Given the description of an element on the screen output the (x, y) to click on. 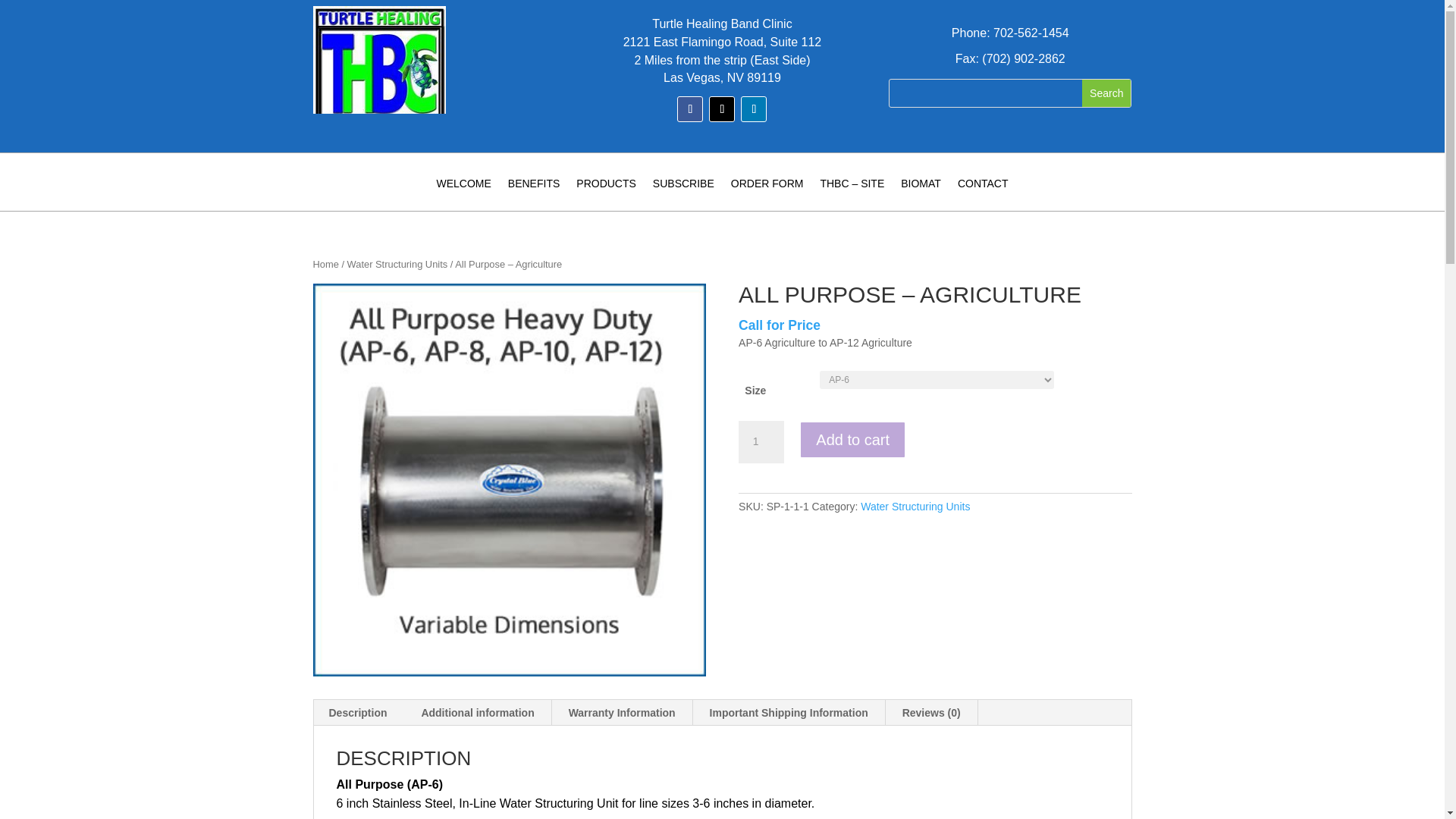
Water Structuring Units (397, 264)
Phone: 702-562-1454 (1010, 32)
Follow on Facebook (690, 109)
Search (1106, 93)
Search (1106, 93)
Description (358, 712)
SUBSCRIBE (683, 194)
Home (325, 264)
BIOMAT (920, 194)
Search (1106, 93)
Follow on X (722, 109)
Water Structuring Units (914, 506)
Turtle Healing Band Clinic-logo (379, 74)
WELCOME (462, 194)
